Given the description of an element on the screen output the (x, y) to click on. 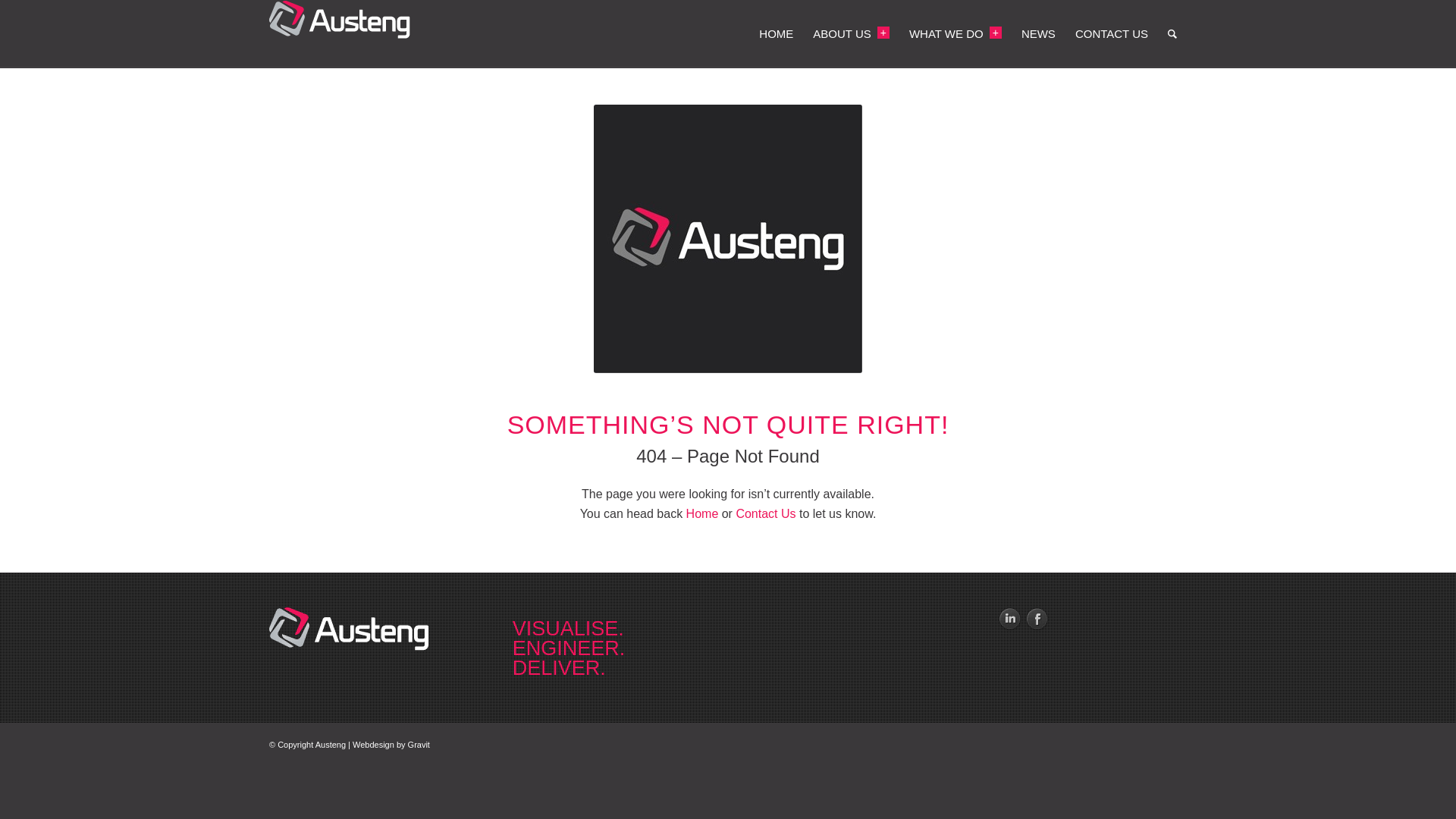
HOME Element type: text (776, 33)
Gravit Element type: text (418, 744)
Home  Element type: text (703, 513)
WHAT WE DO+ Element type: text (955, 33)
ABOUT US+ Element type: text (851, 33)
NEWS Element type: text (1038, 33)
CONTACT US Element type: text (1111, 33)
Contact Us Element type: text (765, 513)
